Given the description of an element on the screen output the (x, y) to click on. 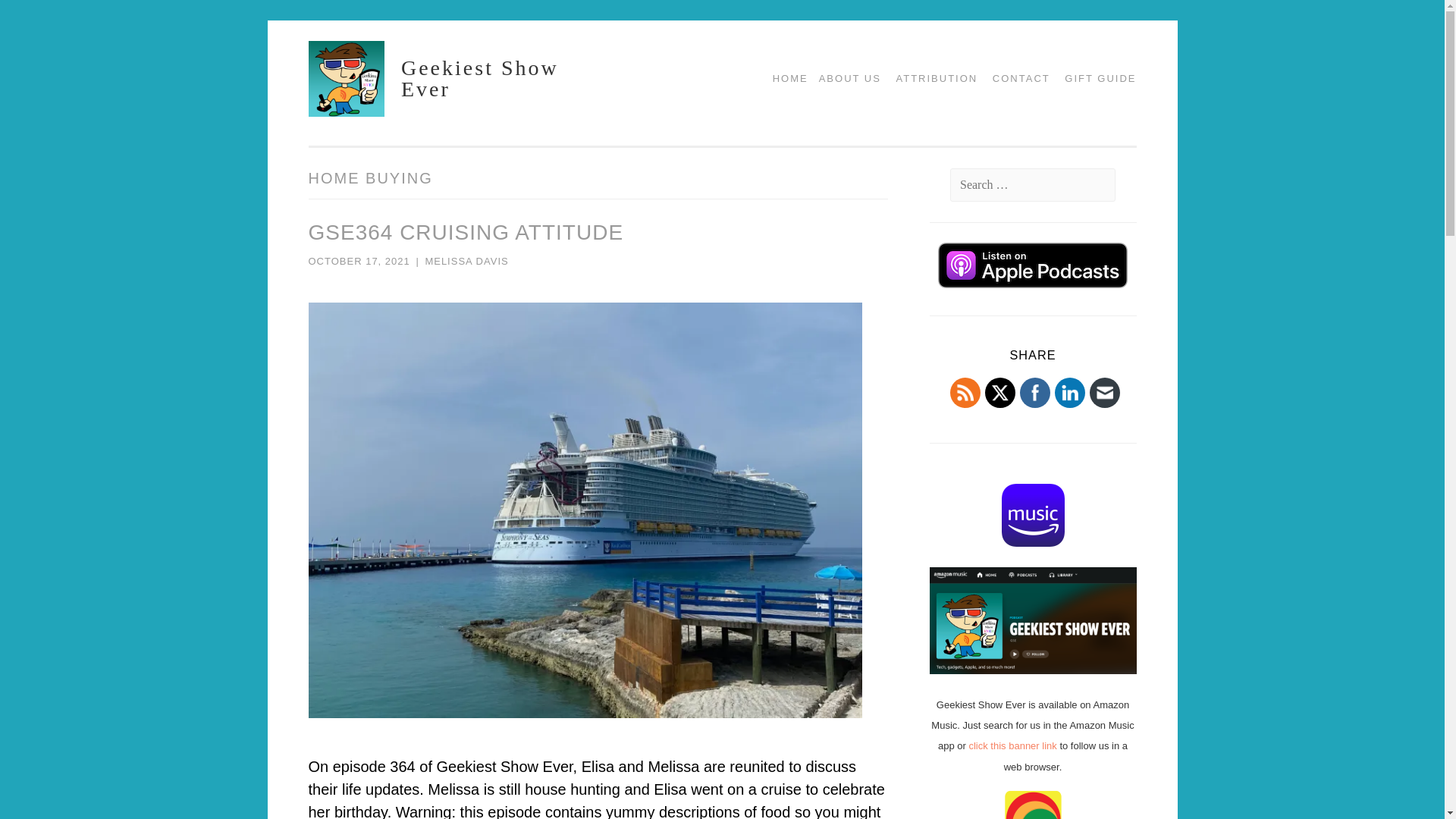
GIFT GUIDE (1094, 78)
Facebook (1034, 392)
Search (42, 16)
GSE364 CRUISING ATTITUDE (465, 232)
Twitter (1000, 392)
HOME (784, 78)
CONTACT (1015, 78)
Follow by Email (1104, 392)
Geekiest Show Ever (480, 78)
ABOUT US (844, 78)
